Given the description of an element on the screen output the (x, y) to click on. 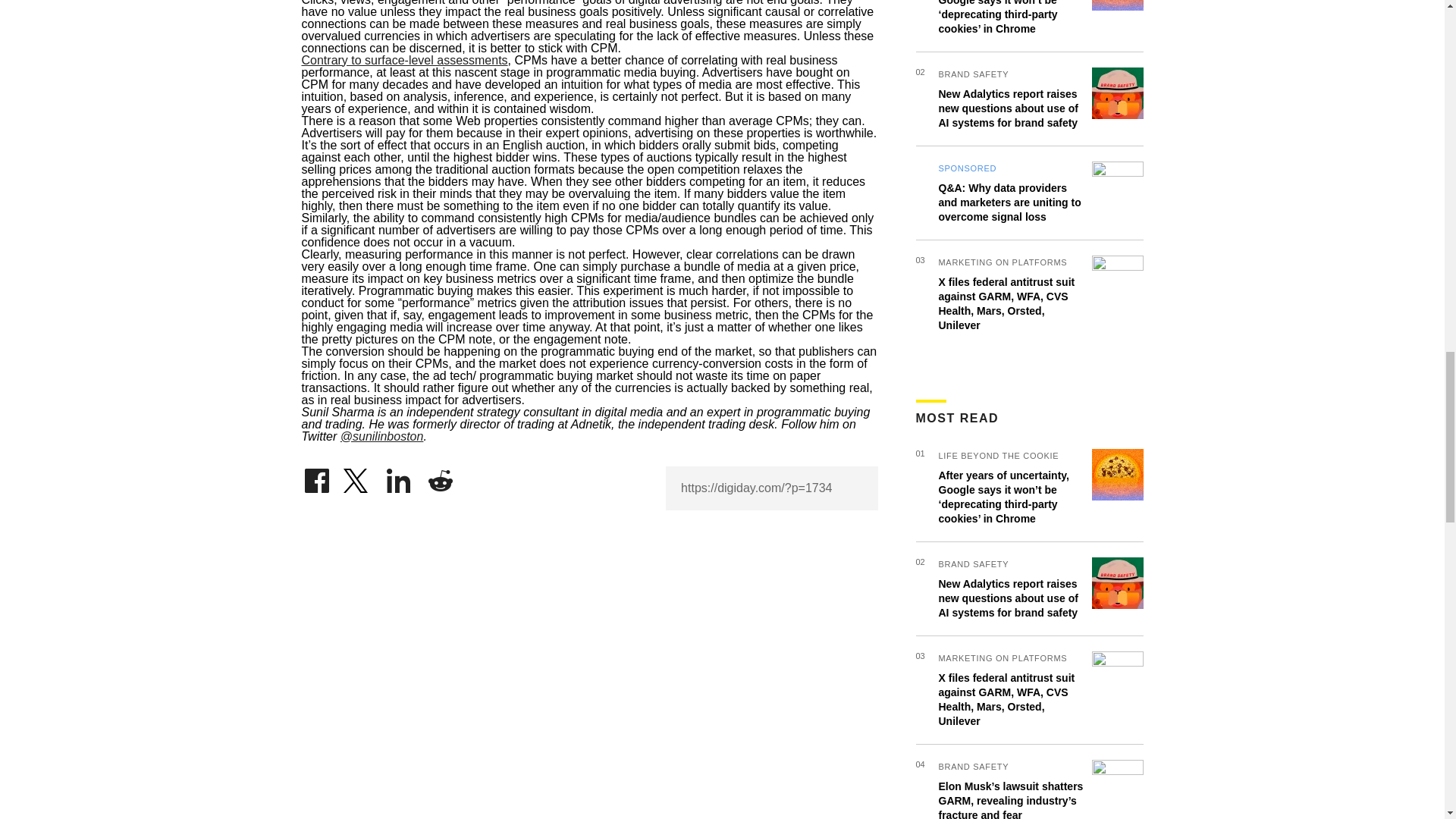
Share on Reddit (440, 476)
Share on Facebook (316, 476)
Share on LinkedIn (398, 476)
Share on Twitter (357, 476)
